Given the description of an element on the screen output the (x, y) to click on. 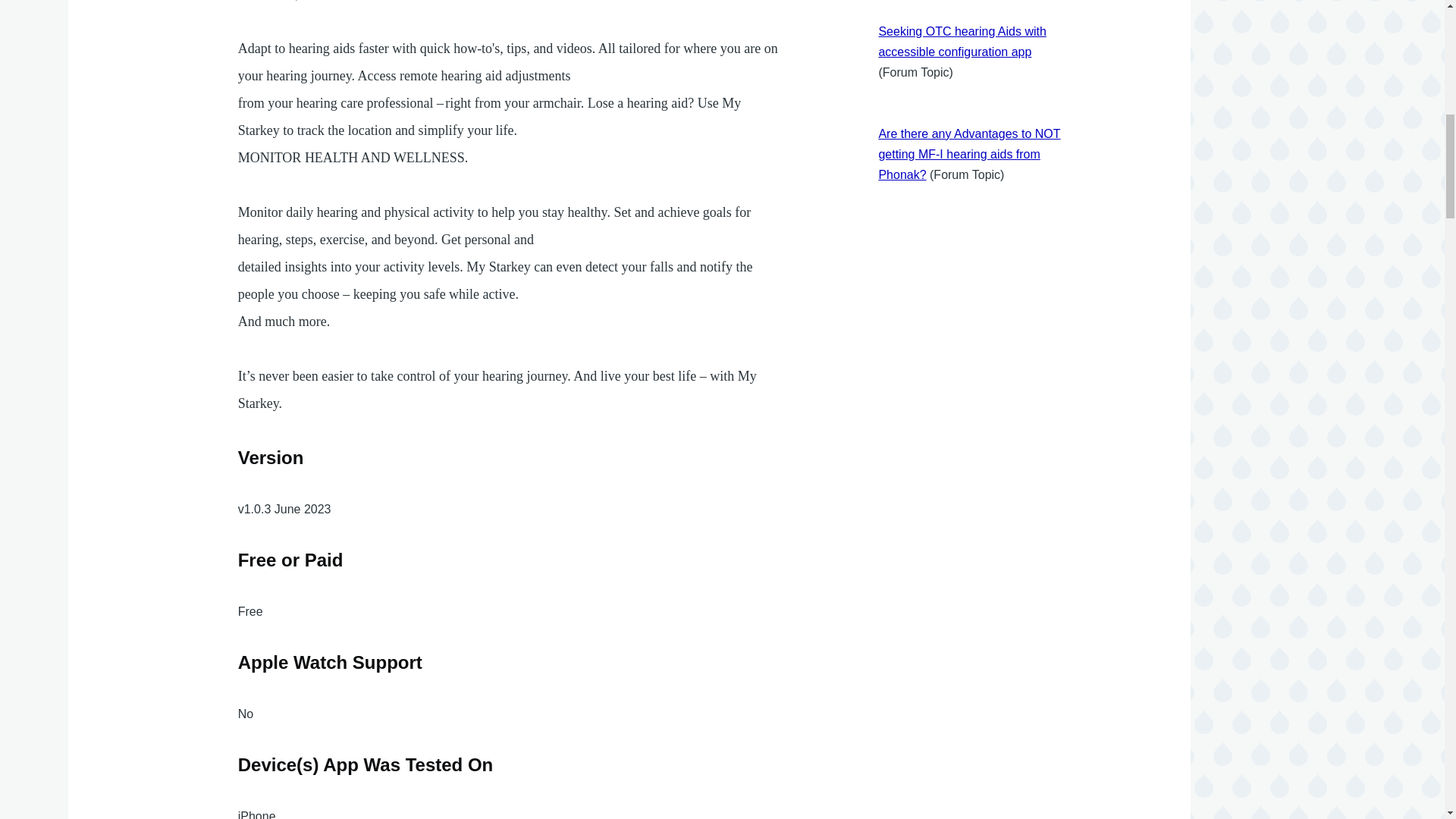
Seeking OTC hearing Aids with accessible configuration app (961, 41)
